Given the description of an element on the screen output the (x, y) to click on. 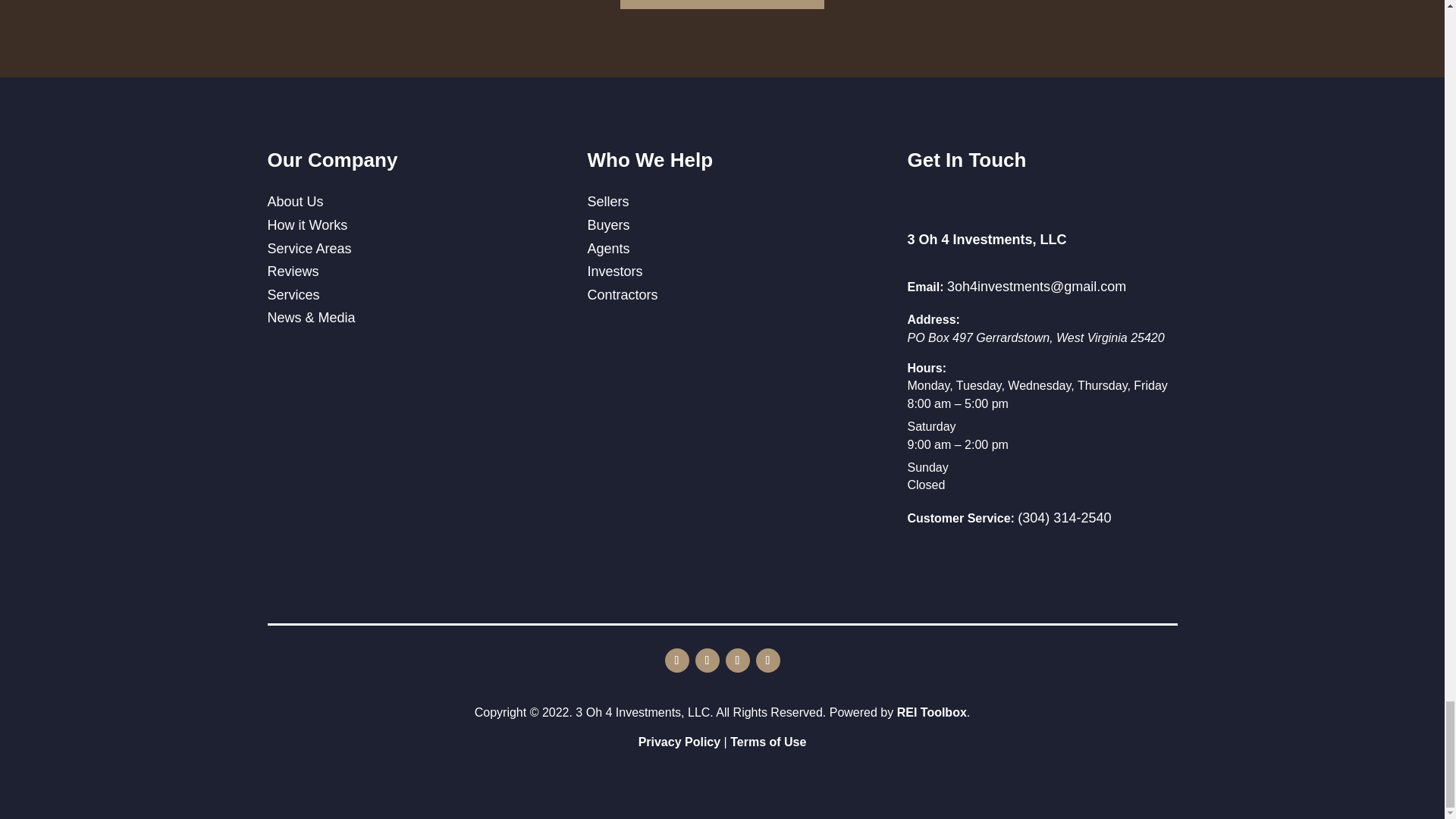
Follow on X (766, 660)
Follow on Google (737, 660)
Reviews (292, 271)
About Us (294, 201)
How it Works (306, 224)
Follow on Instagram (706, 660)
Services (292, 294)
Service Areas (308, 248)
GET MY FAIR CASH OFFER! (722, 4)
Sellers (607, 201)
Follow on Facebook (675, 660)
